Given the description of an element on the screen output the (x, y) to click on. 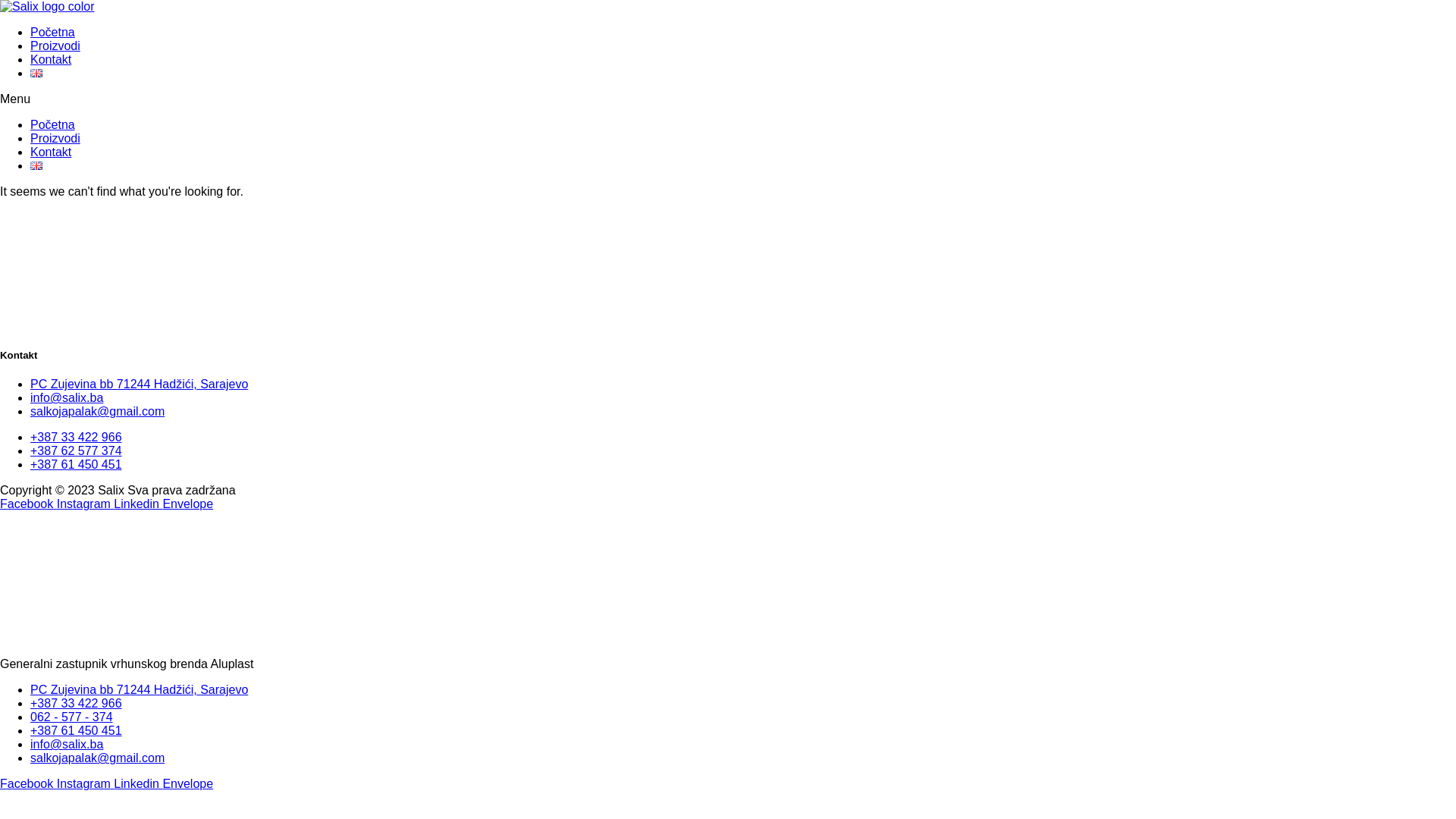
Envelope Element type: text (187, 503)
info@salix.ba Element type: text (66, 397)
+387 33 422 966 Element type: text (76, 702)
062 - 577 - 374 Element type: text (71, 716)
Kontakt Element type: text (50, 59)
Instagram Element type: text (85, 503)
Instagram Element type: text (85, 783)
info@salix.ba Element type: text (66, 743)
+387 61 450 451 Element type: text (76, 730)
Linkedin Element type: text (137, 503)
Facebook Element type: text (28, 503)
+387 62 577 374 Element type: text (76, 450)
salkojapalak@gmail.com Element type: text (97, 757)
+387 33 422 966 Element type: text (76, 436)
Proizvodi Element type: text (55, 45)
Proizvodi Element type: text (55, 137)
Envelope Element type: text (187, 783)
salkojapalak@gmail.com Element type: text (97, 410)
+387 61 450 451 Element type: text (76, 464)
Kontakt Element type: text (50, 151)
Facebook Element type: text (28, 783)
Linkedin Element type: text (137, 783)
